Given the description of an element on the screen output the (x, y) to click on. 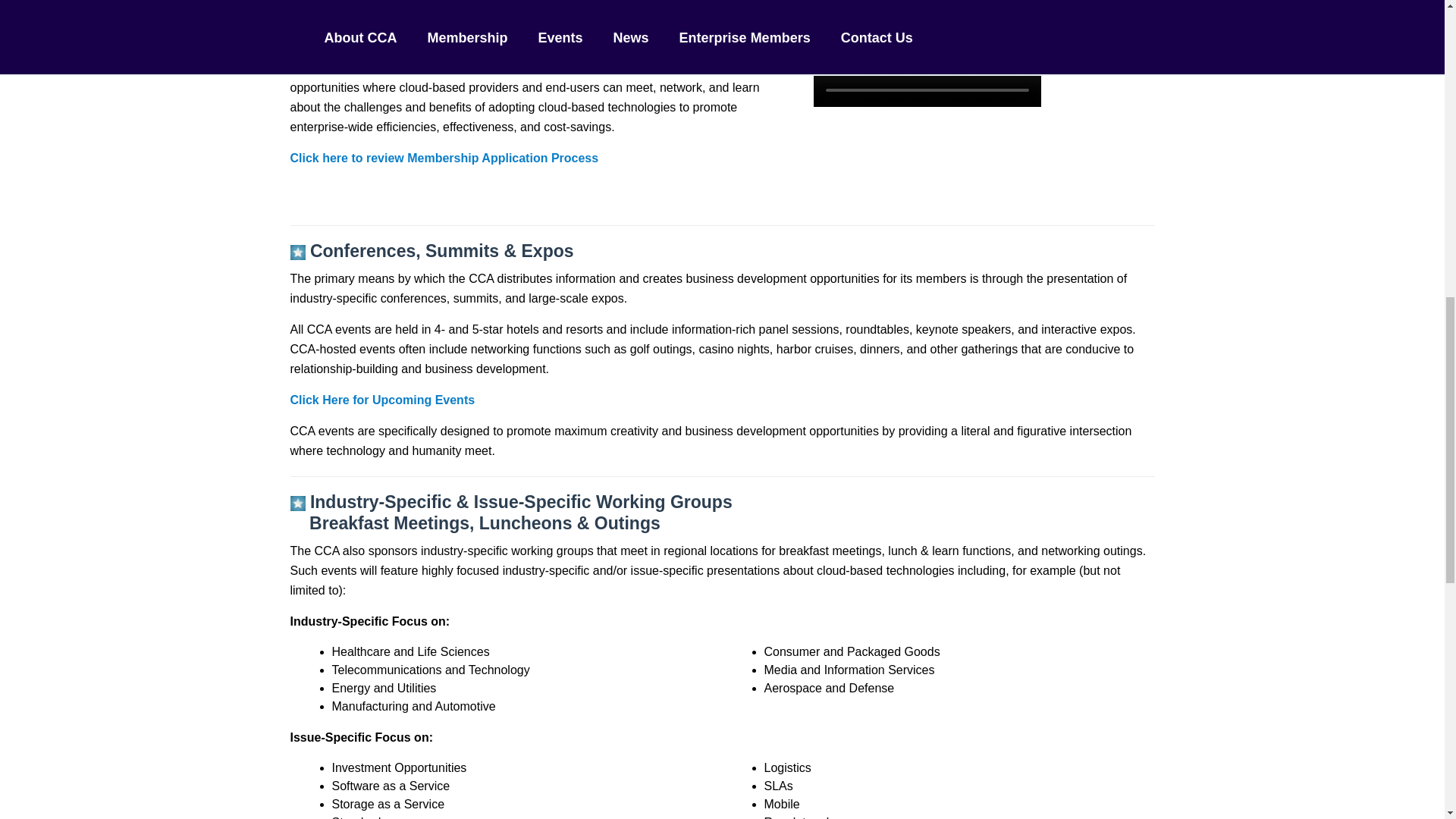
Click Here for Upcoming Events (381, 399)
Click here to review Membership Application Process (443, 157)
